Given the description of an element on the screen output the (x, y) to click on. 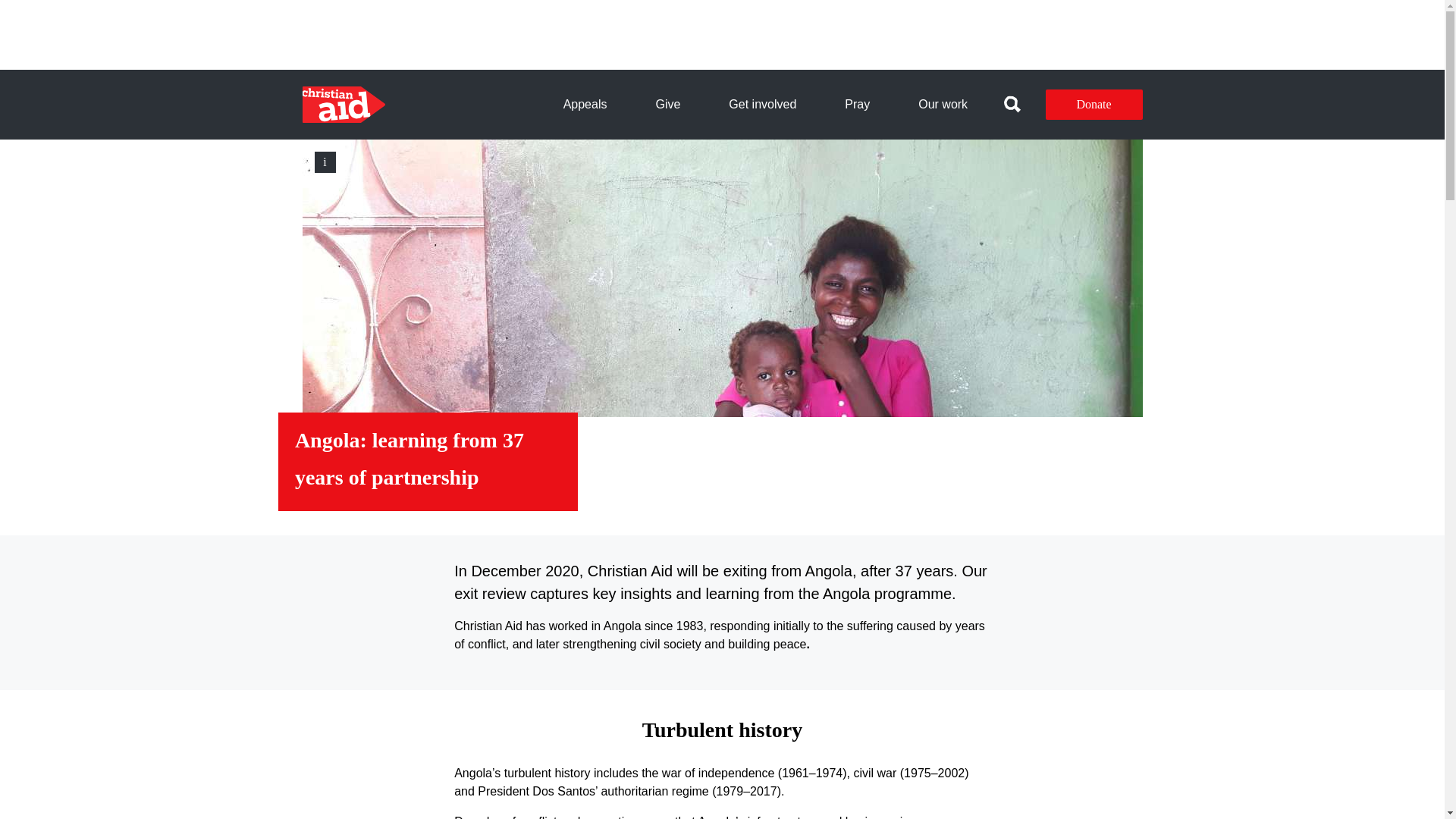
Pray (857, 104)
Give (667, 104)
Our work (942, 104)
Get involved (762, 104)
Appeals (584, 104)
Donate (1093, 104)
